Given the description of an element on the screen output the (x, y) to click on. 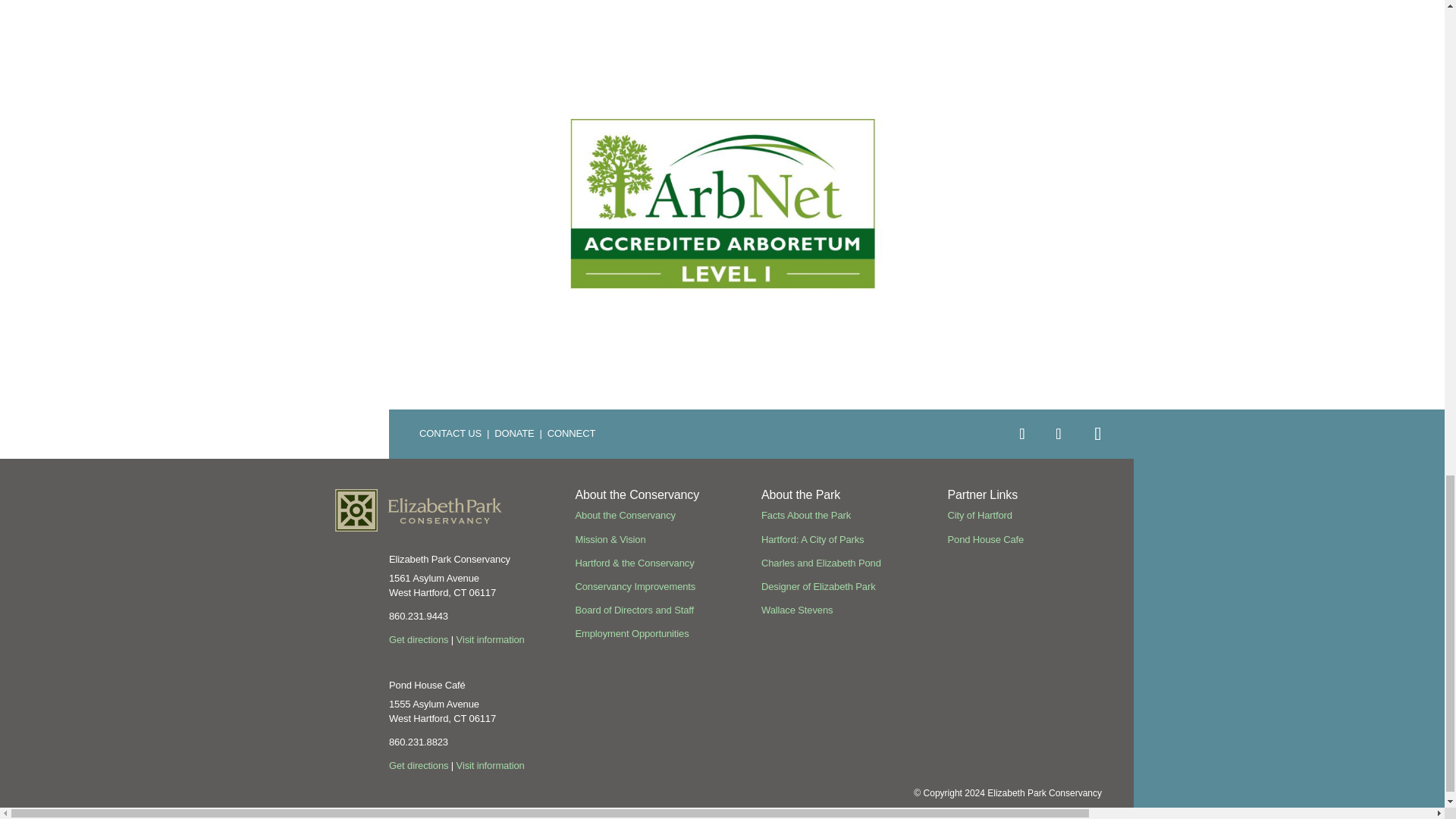
Follow on Instagram (1058, 433)
EPC logo Final (418, 509)
Follow on Youtube (1098, 433)
Follow on Facebook (1021, 433)
